Given the description of an element on the screen output the (x, y) to click on. 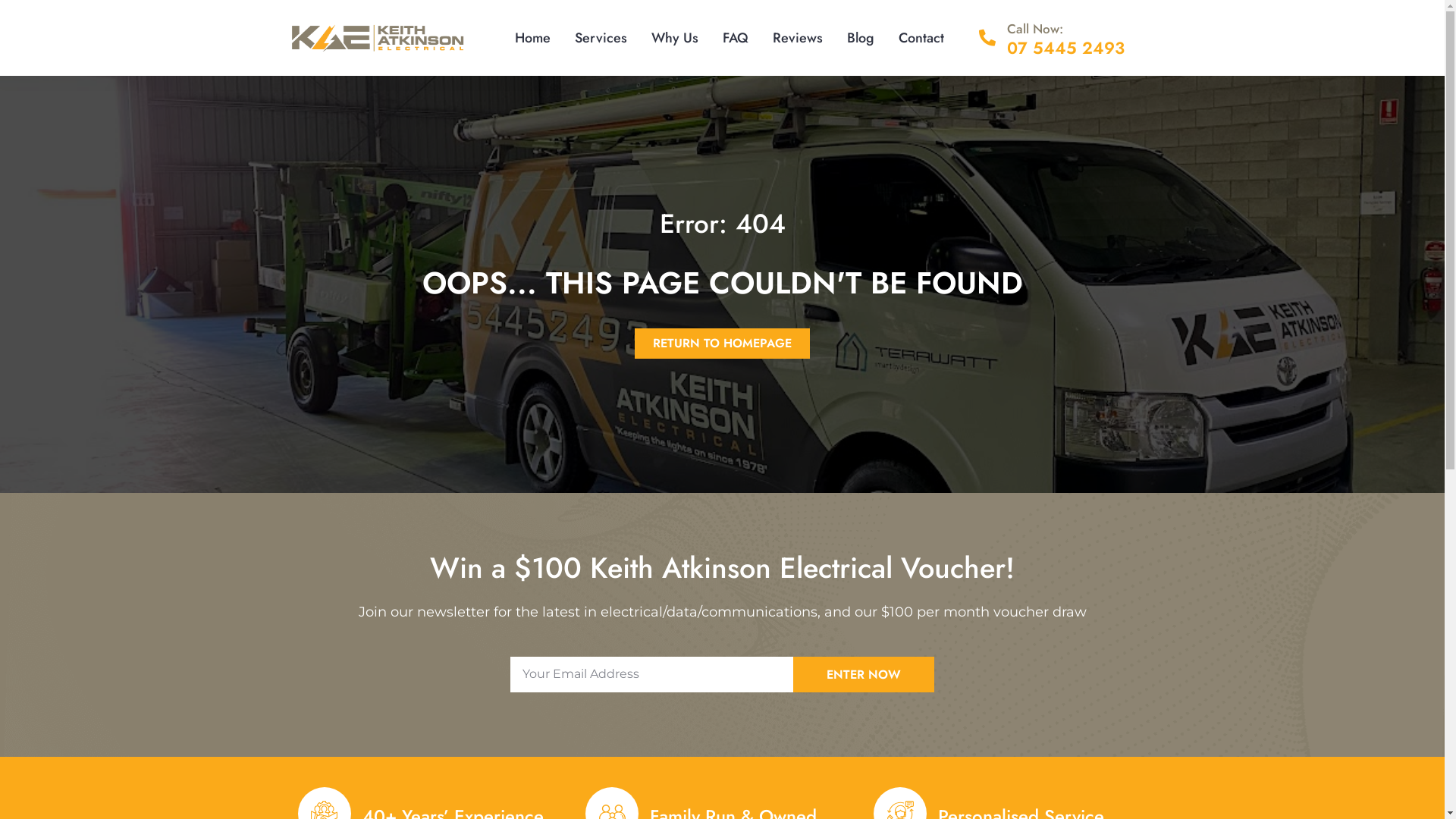
Services Element type: text (600, 37)
FAQ Element type: text (735, 37)
Call Now: Element type: text (1035, 28)
Reviews Element type: text (797, 37)
Blog Element type: text (860, 37)
07 5445 2493 Element type: text (1065, 47)
ENTER NOW Element type: text (864, 674)
RETURN TO HOMEPAGE Element type: text (721, 342)
Why Us Element type: text (674, 37)
Contact Element type: text (921, 37)
Home Element type: text (532, 37)
